Given the description of an element on the screen output the (x, y) to click on. 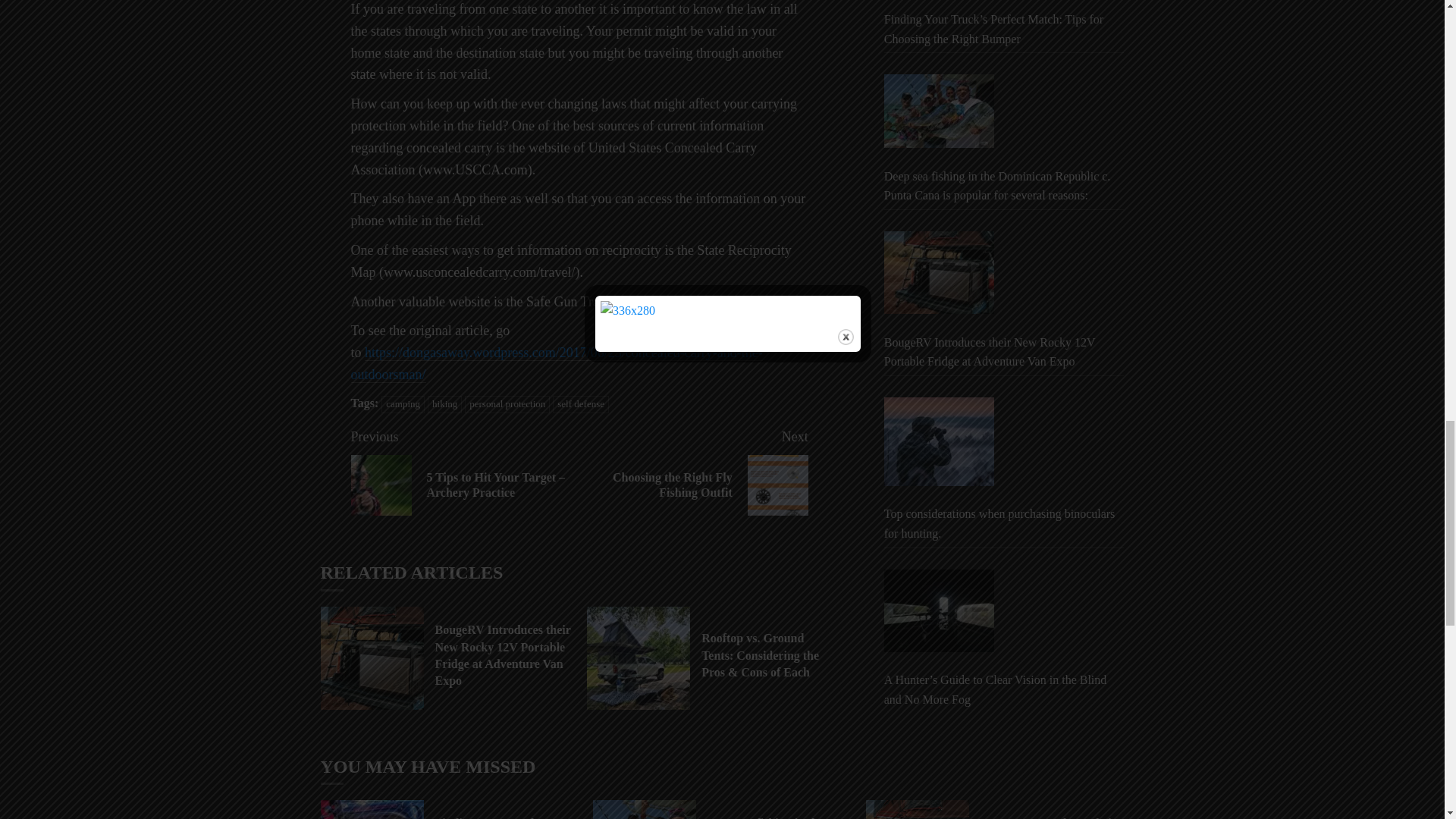
personal protection (693, 470)
self defense (507, 404)
hiking (580, 404)
camping (444, 404)
